Given the description of an element on the screen output the (x, y) to click on. 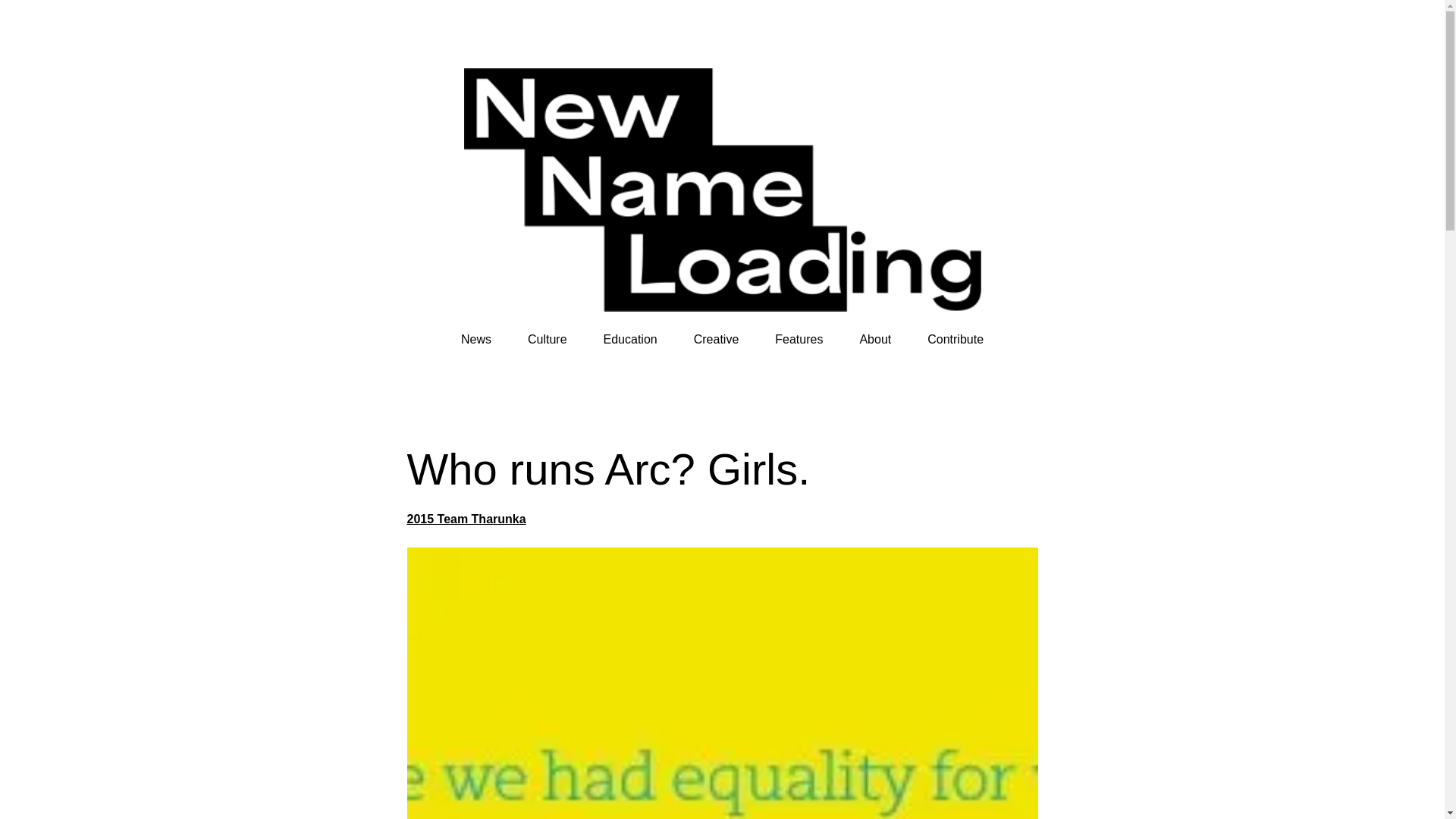
Features (798, 339)
2015 Team Tharunka (465, 518)
Culture (547, 339)
Creative (716, 339)
Contribute (955, 339)
About (875, 339)
Education (631, 339)
News (476, 339)
